Given the description of an element on the screen output the (x, y) to click on. 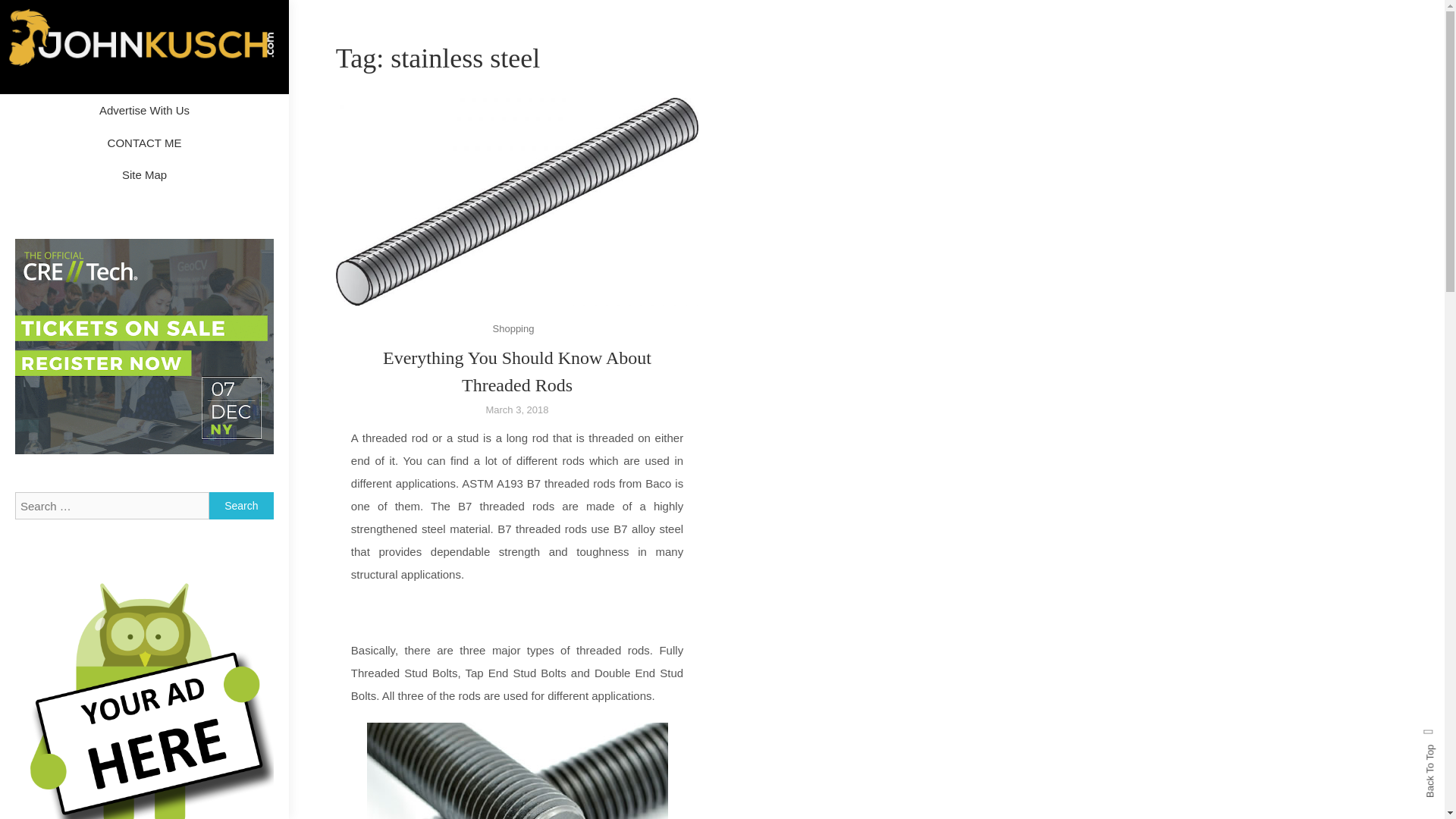
Johnkusch (90, 111)
Search (241, 505)
Search (241, 505)
Site Map (144, 174)
CONTACT ME (144, 143)
Search (241, 505)
Advertise With Us (144, 111)
